Given the description of an element on the screen output the (x, y) to click on. 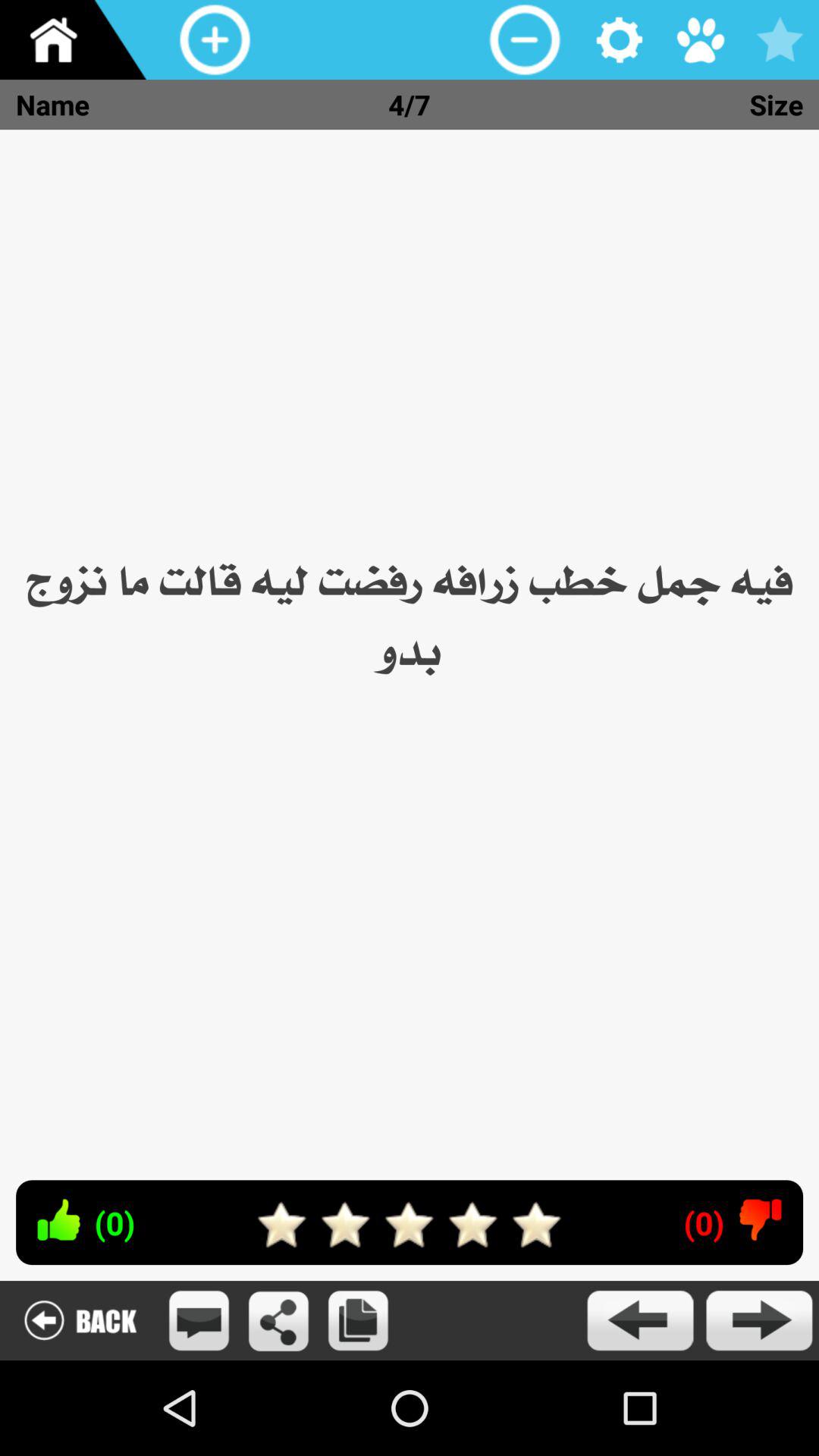
dislike image (760, 1219)
